Given the description of an element on the screen output the (x, y) to click on. 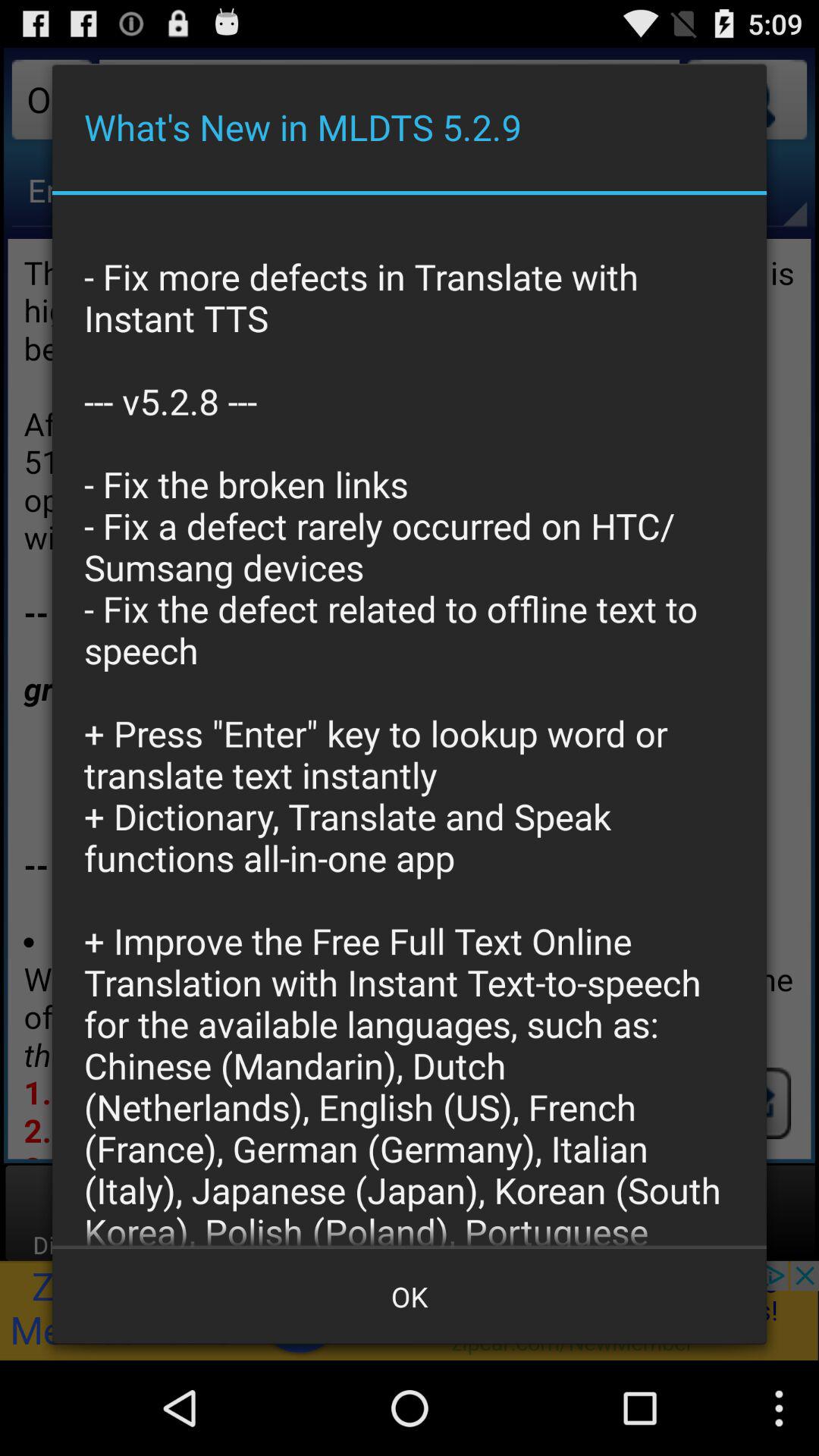
turn on the ok button (409, 1296)
